Given the description of an element on the screen output the (x, y) to click on. 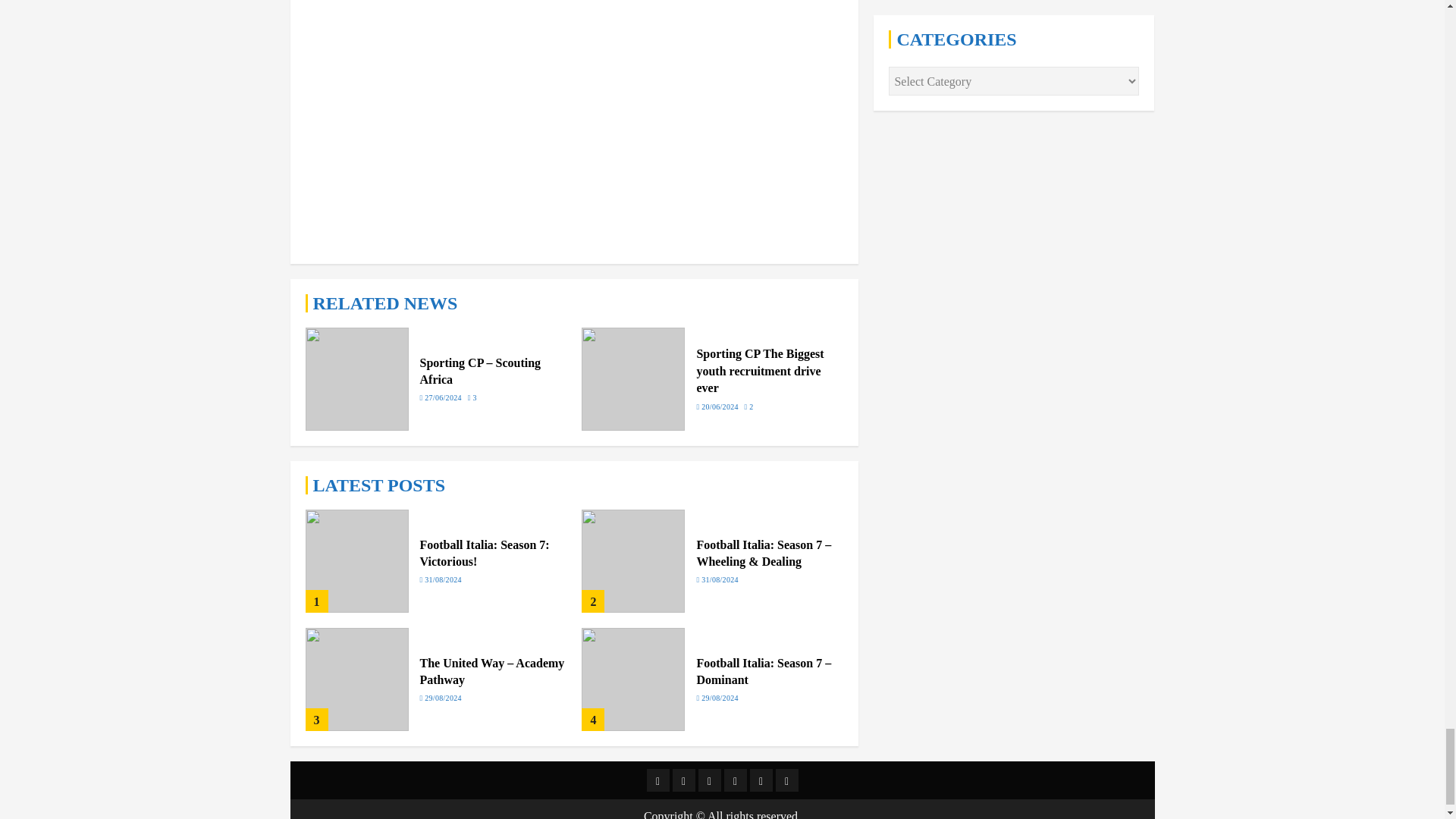
Comment Form (573, 121)
